Given the description of an element on the screen output the (x, y) to click on. 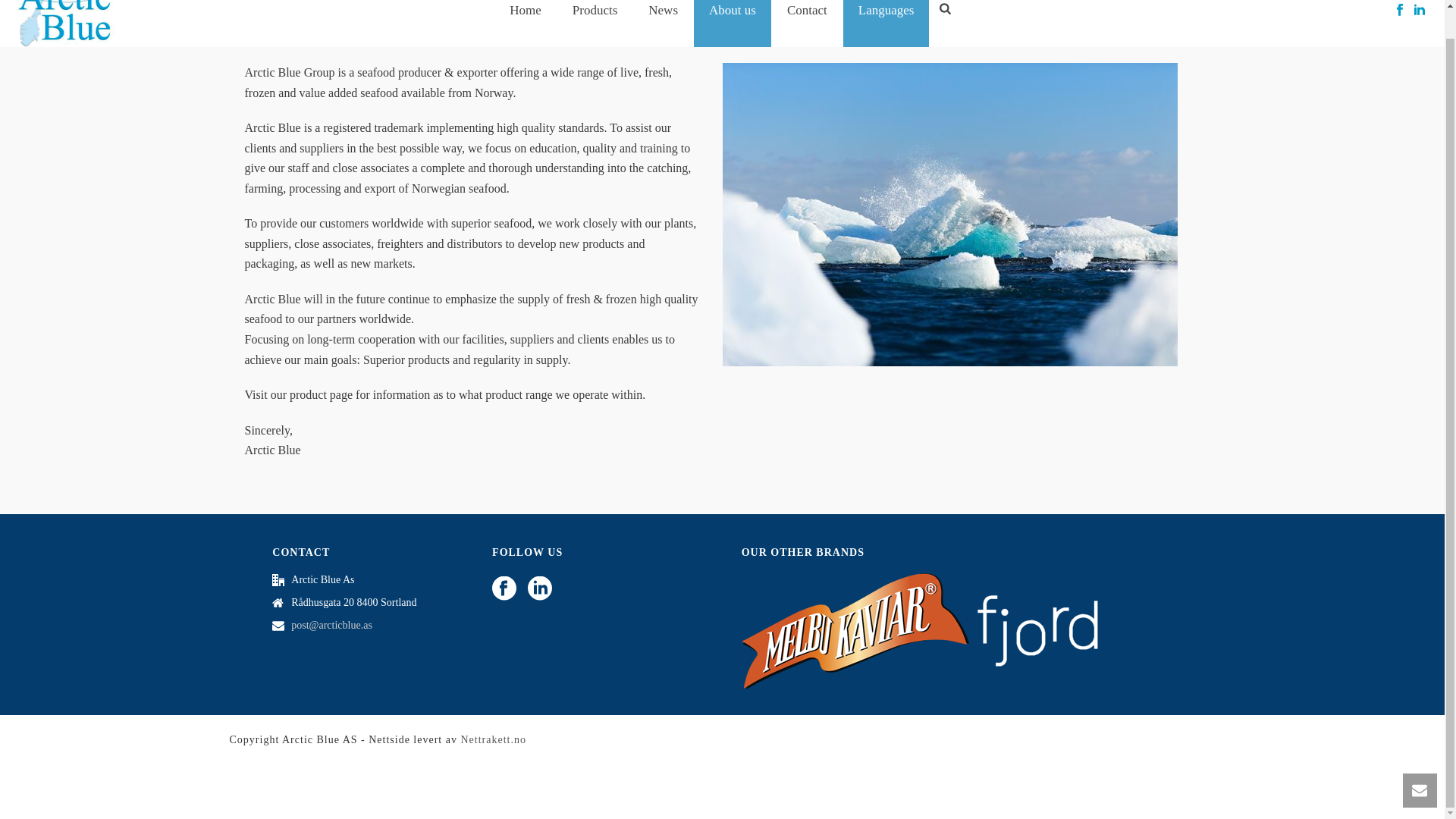
Languages (886, 23)
Home (525, 23)
News (663, 23)
Contact (807, 23)
Contact (807, 23)
Purity is excellence (64, 23)
Products (595, 23)
About us (732, 23)
Follow us facebook (504, 589)
News (663, 23)
